Given the description of an element on the screen output the (x, y) to click on. 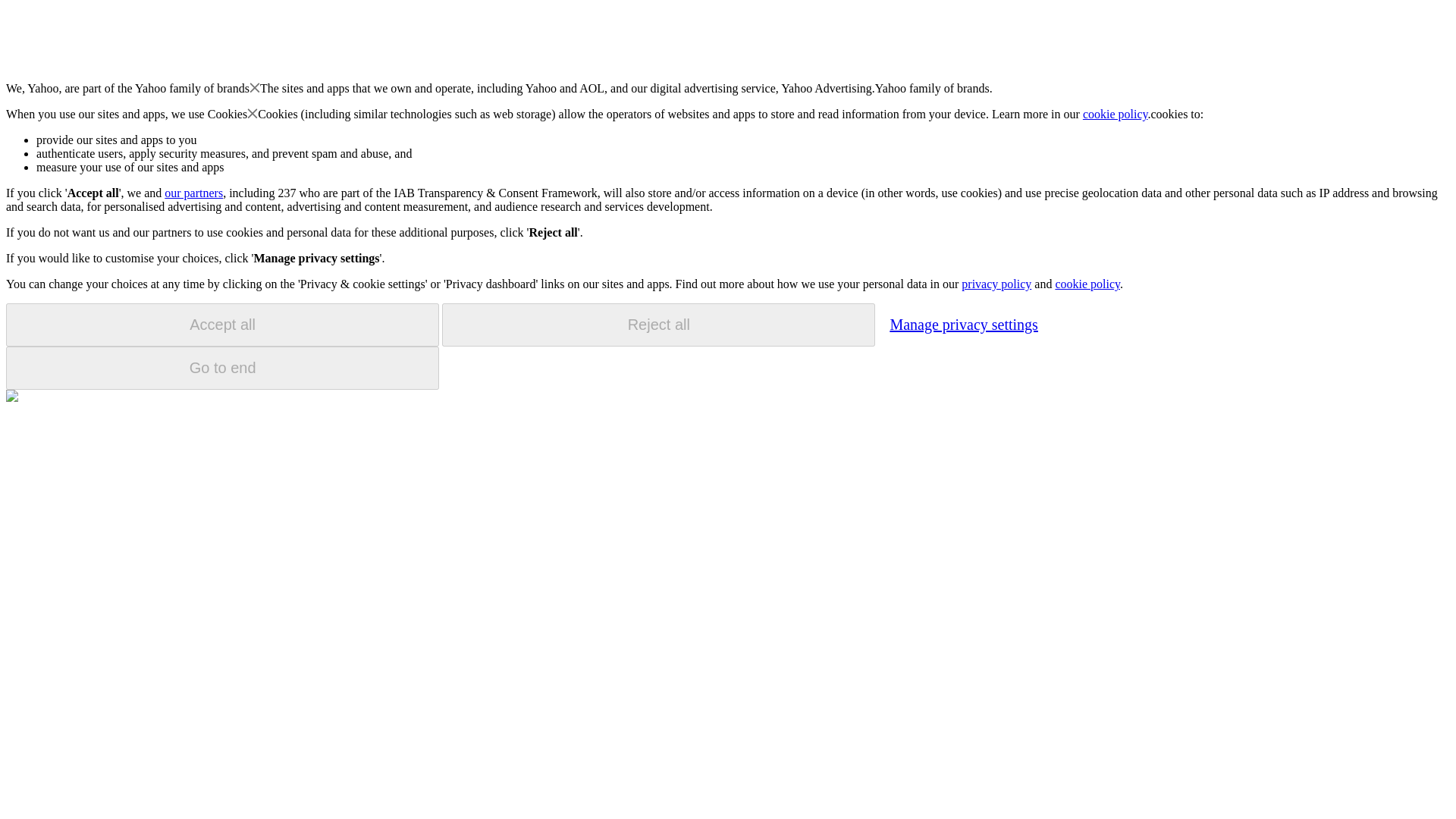
Manage privacy settings (963, 323)
our partners (193, 192)
privacy policy (995, 283)
Go to end (222, 367)
Reject all (658, 324)
cookie policy (1115, 113)
cookie policy (1086, 283)
Accept all (222, 324)
